Given the description of an element on the screen output the (x, y) to click on. 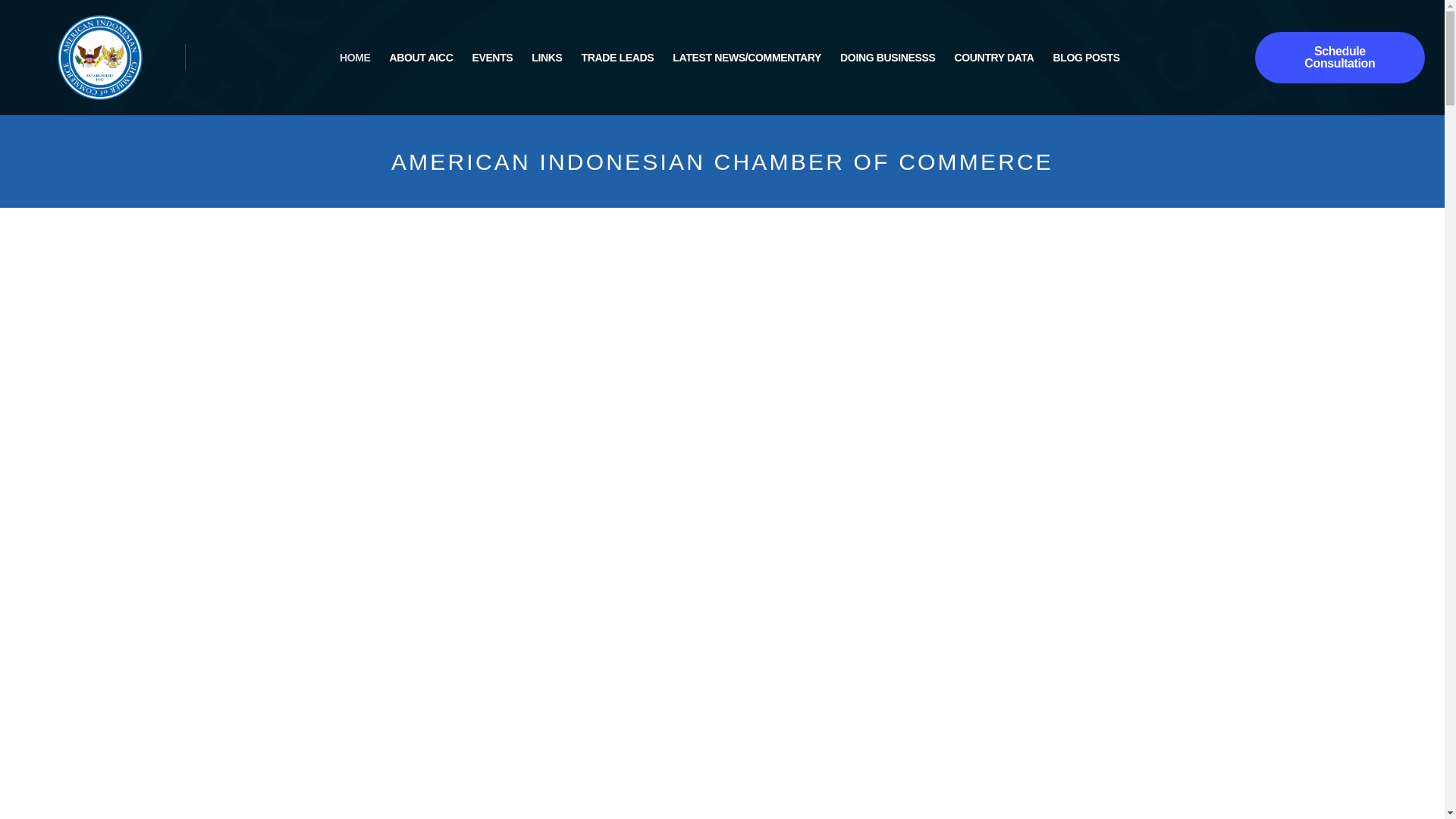
EVENTS (491, 57)
DOING BUSINESSS (887, 57)
COUNTRY DATA (994, 57)
HOME (355, 57)
LINKS (546, 57)
TRADE LEADS (616, 57)
ABOUT AICC (421, 57)
